Given the description of an element on the screen output the (x, y) to click on. 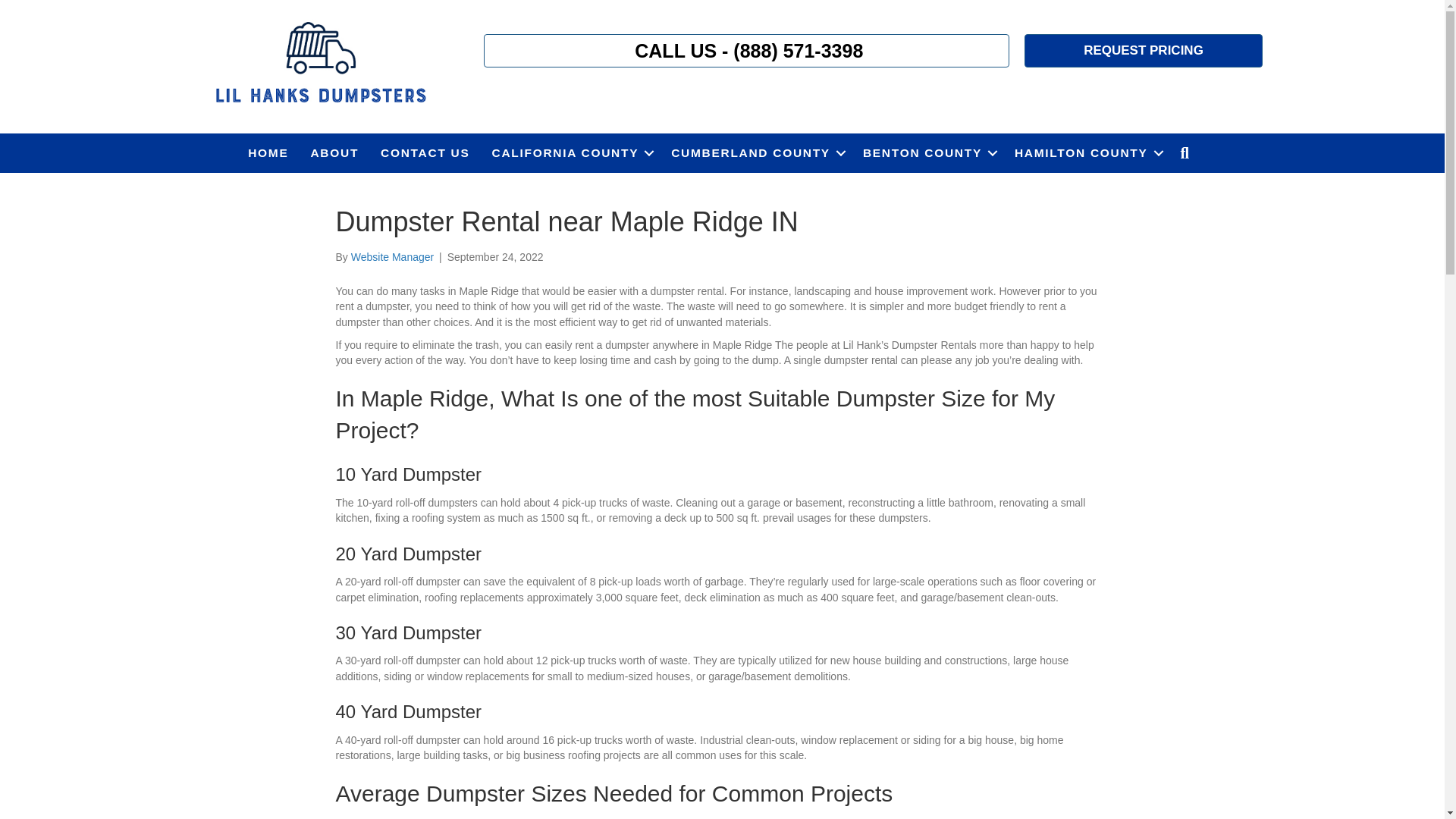
CALIFORNIA COUNTY (571, 152)
BENTON COUNTY (927, 152)
HAMILTON COUNTY (1086, 152)
REQUEST PRICING (1144, 50)
CONTACT US (424, 152)
CUMBERLAND COUNTY (756, 152)
Lil Hanks (319, 64)
HOME (267, 152)
ABOUT (334, 152)
